Given the description of an element on the screen output the (x, y) to click on. 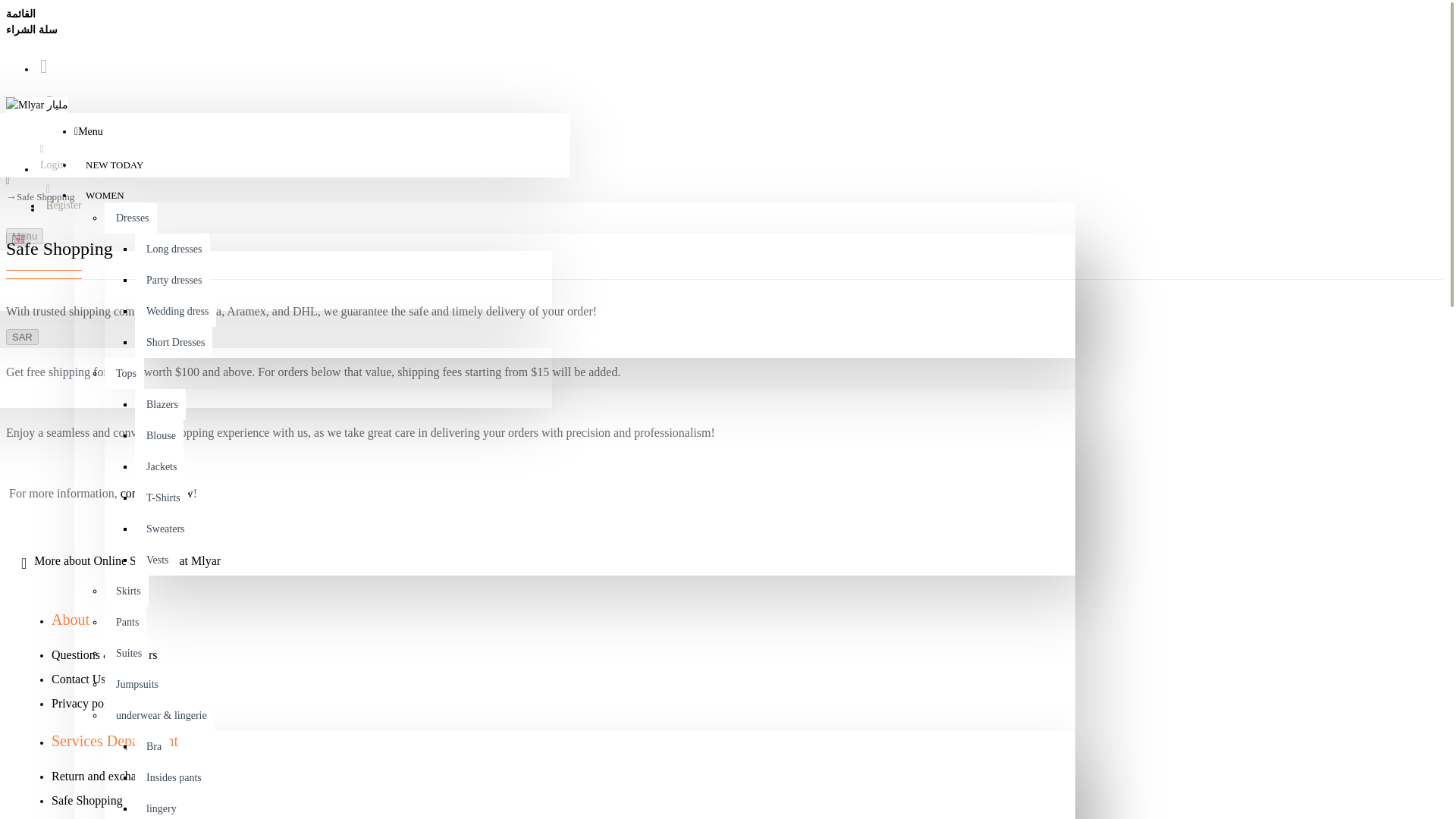
Long dresses (172, 248)
Jackets (159, 466)
Wedding dress (175, 310)
Blazers (160, 404)
Tops (124, 373)
English (17, 239)
Bra (151, 746)
Jumpsuits (134, 684)
Party dresses (172, 279)
Pants (125, 622)
